Given the description of an element on the screen output the (x, y) to click on. 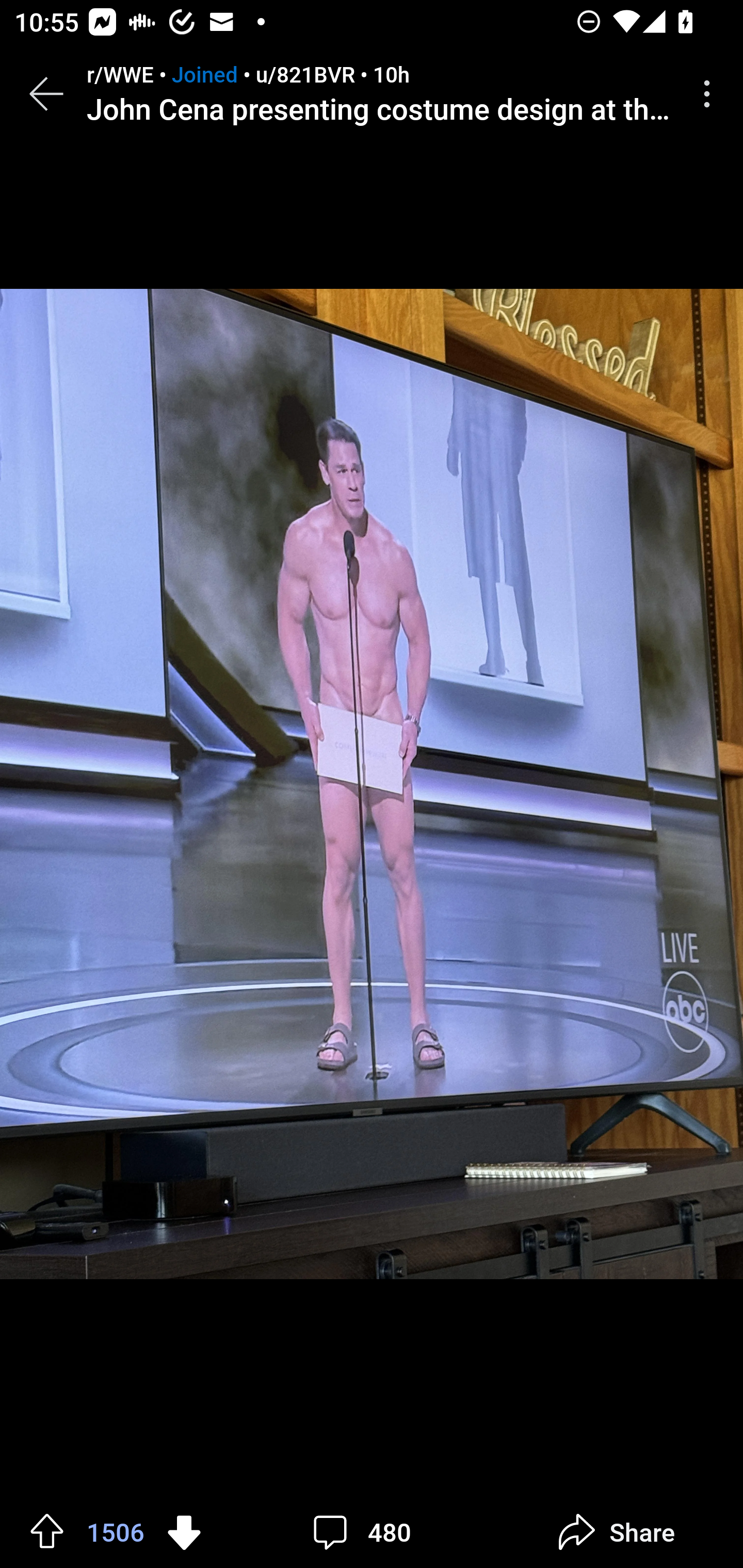
Back (46, 93)
More options (710, 93)
Upvote 1506 votes Downvote (115, 1531)
480 comments 480 (367, 1531)
Share (616, 1531)
Upvote (46, 1531)
Downvote (184, 1531)
